Given the description of an element on the screen output the (x, y) to click on. 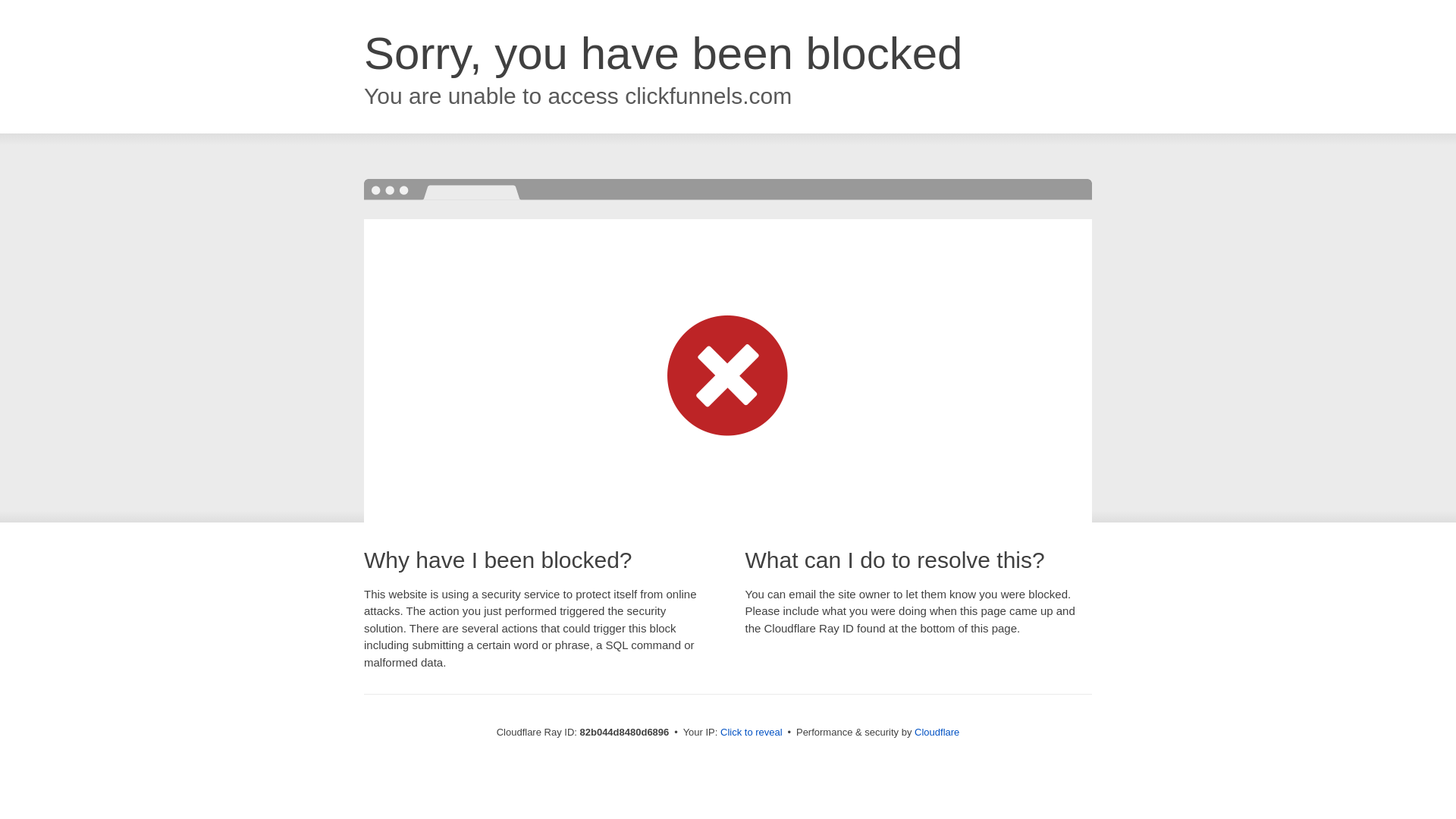
Click to reveal Element type: text (751, 732)
Cloudflare Element type: text (936, 731)
